Given the description of an element on the screen output the (x, y) to click on. 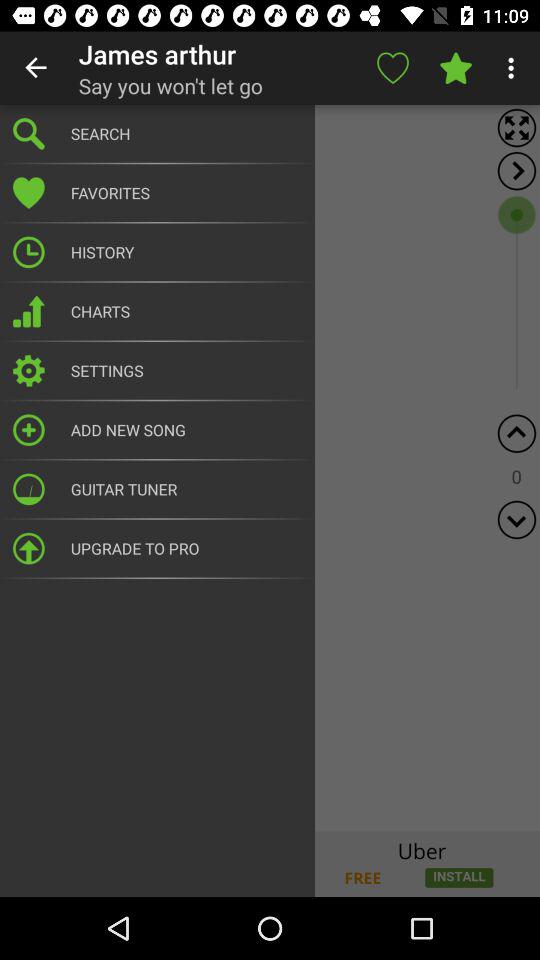
open the next page (516, 170)
